Given the description of an element on the screen output the (x, y) to click on. 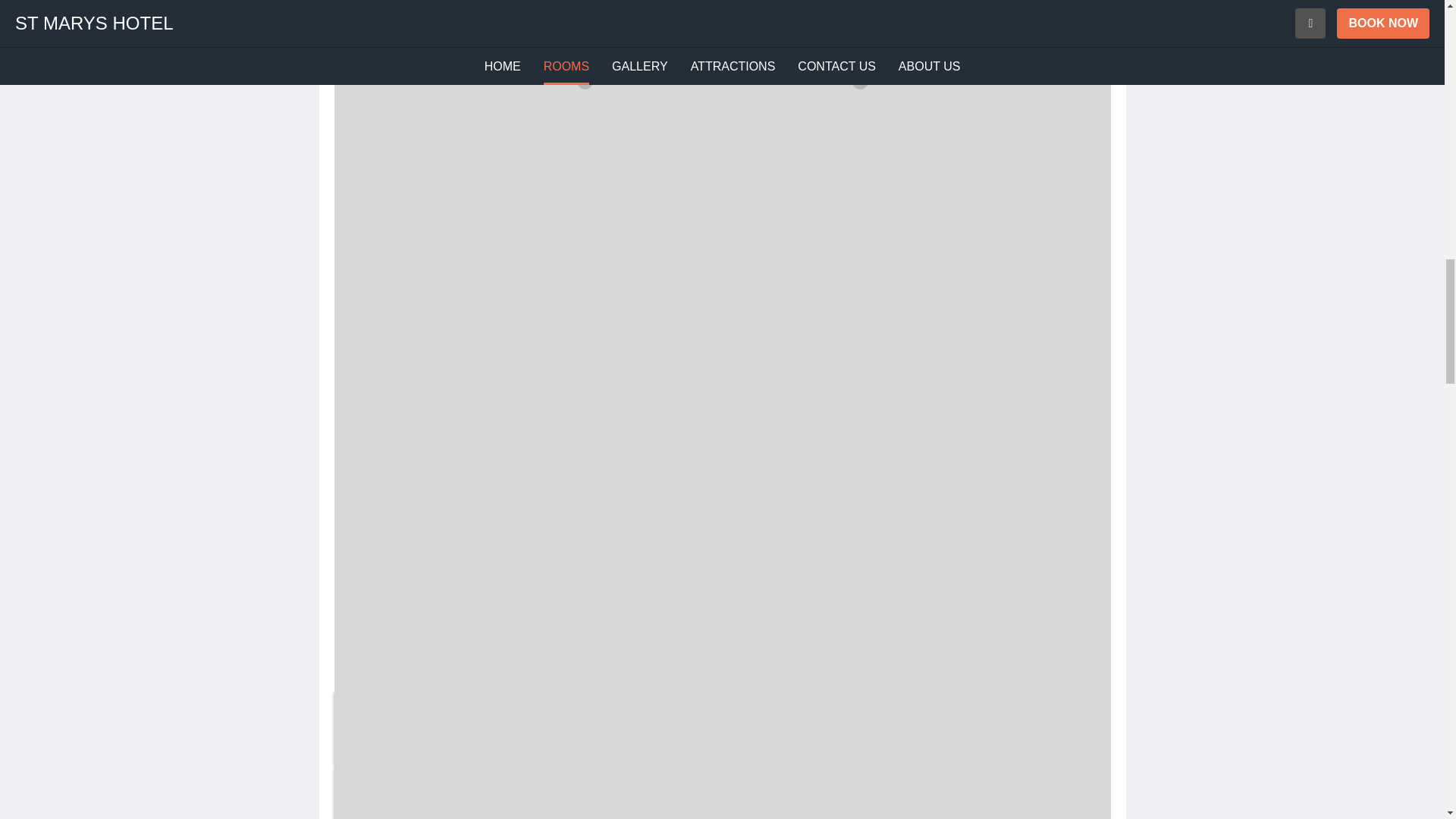
click to zoom-in (460, 793)
click to zoom-in (721, 38)
click to zoom-in (395, 729)
